Given the description of an element on the screen output the (x, y) to click on. 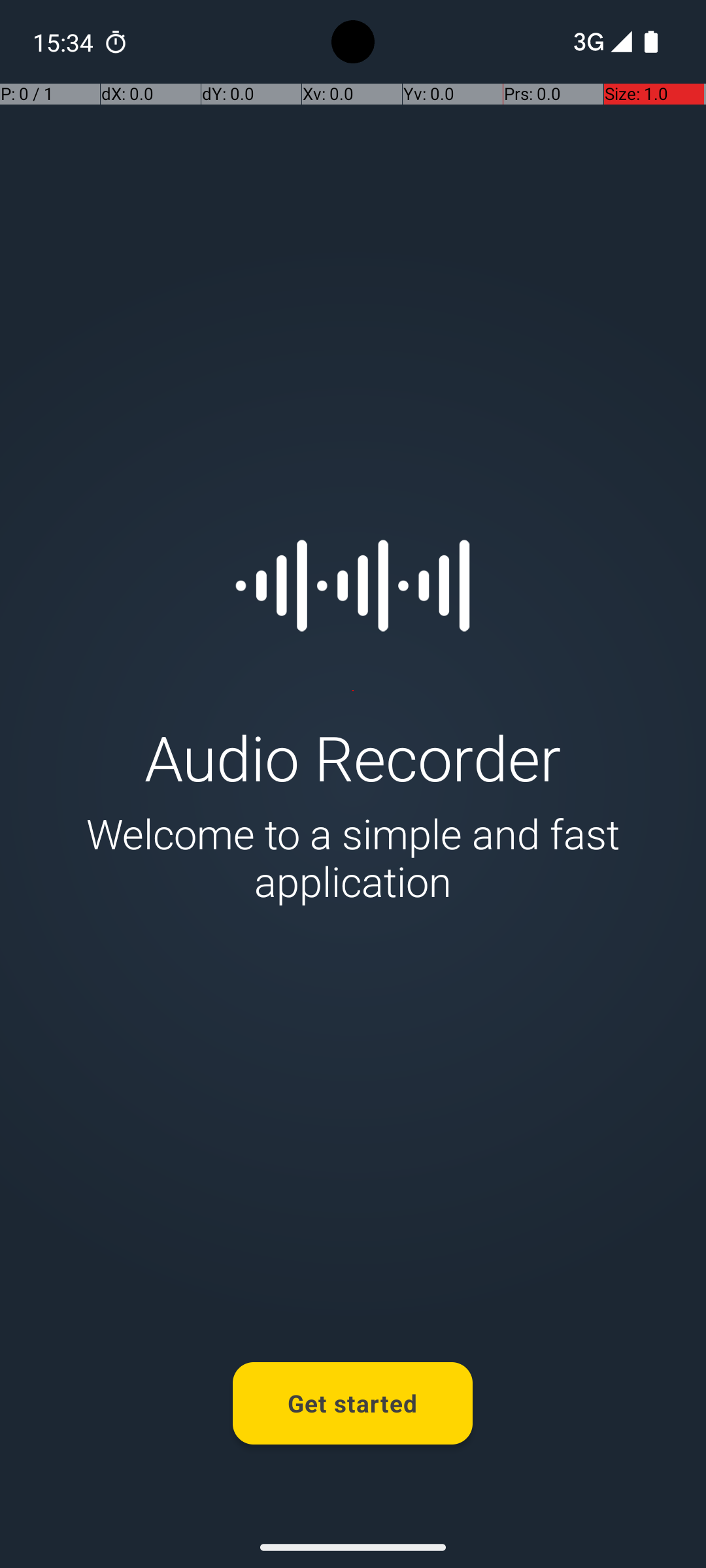
3G Element type: android.widget.ImageView (587, 41)
